Given the description of an element on the screen output the (x, y) to click on. 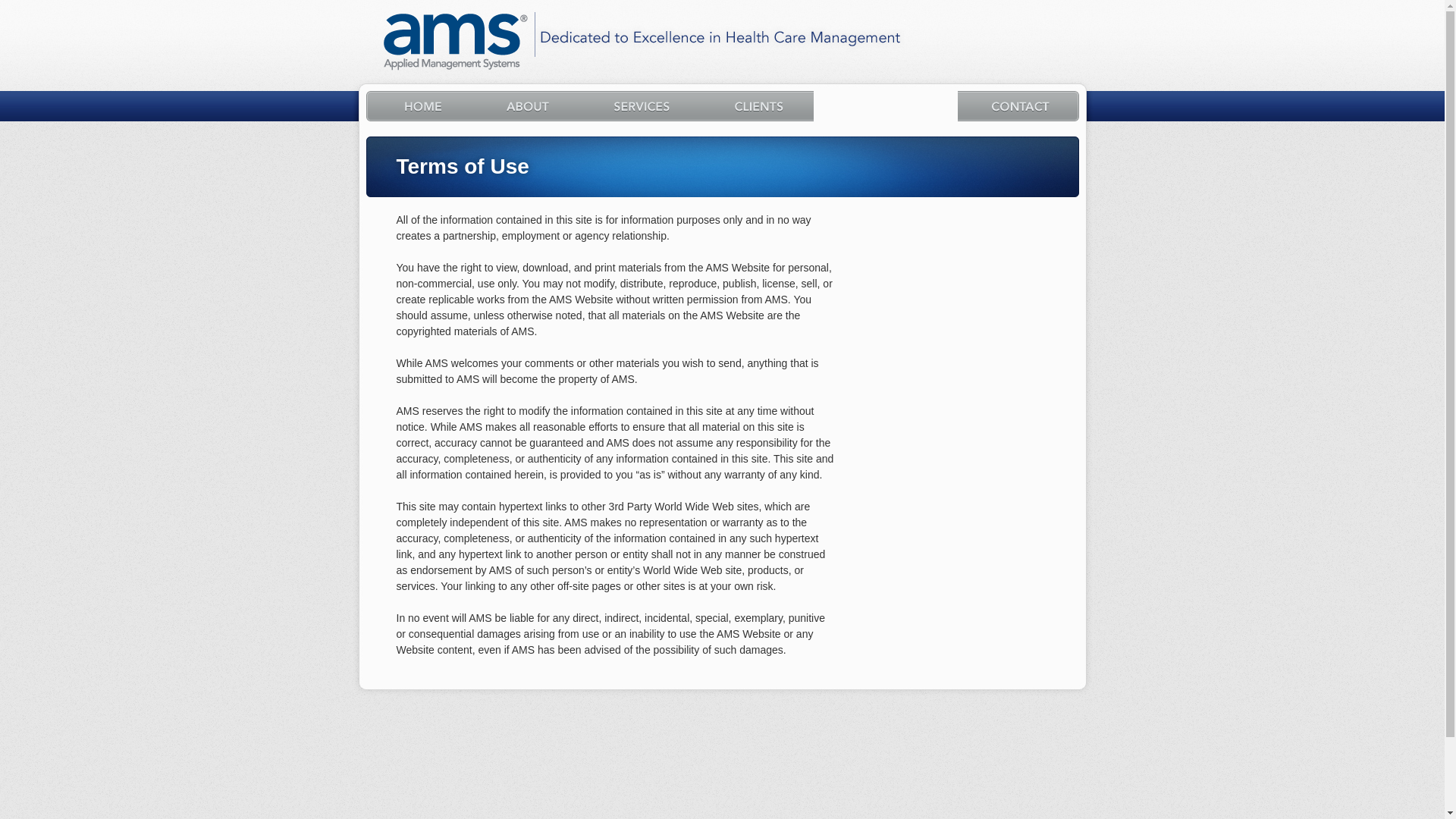
Services (638, 105)
About (524, 105)
Client (755, 105)
Home (418, 105)
AMS - Applied Management Systems (456, 41)
Contact (1017, 105)
